Given the description of an element on the screen output the (x, y) to click on. 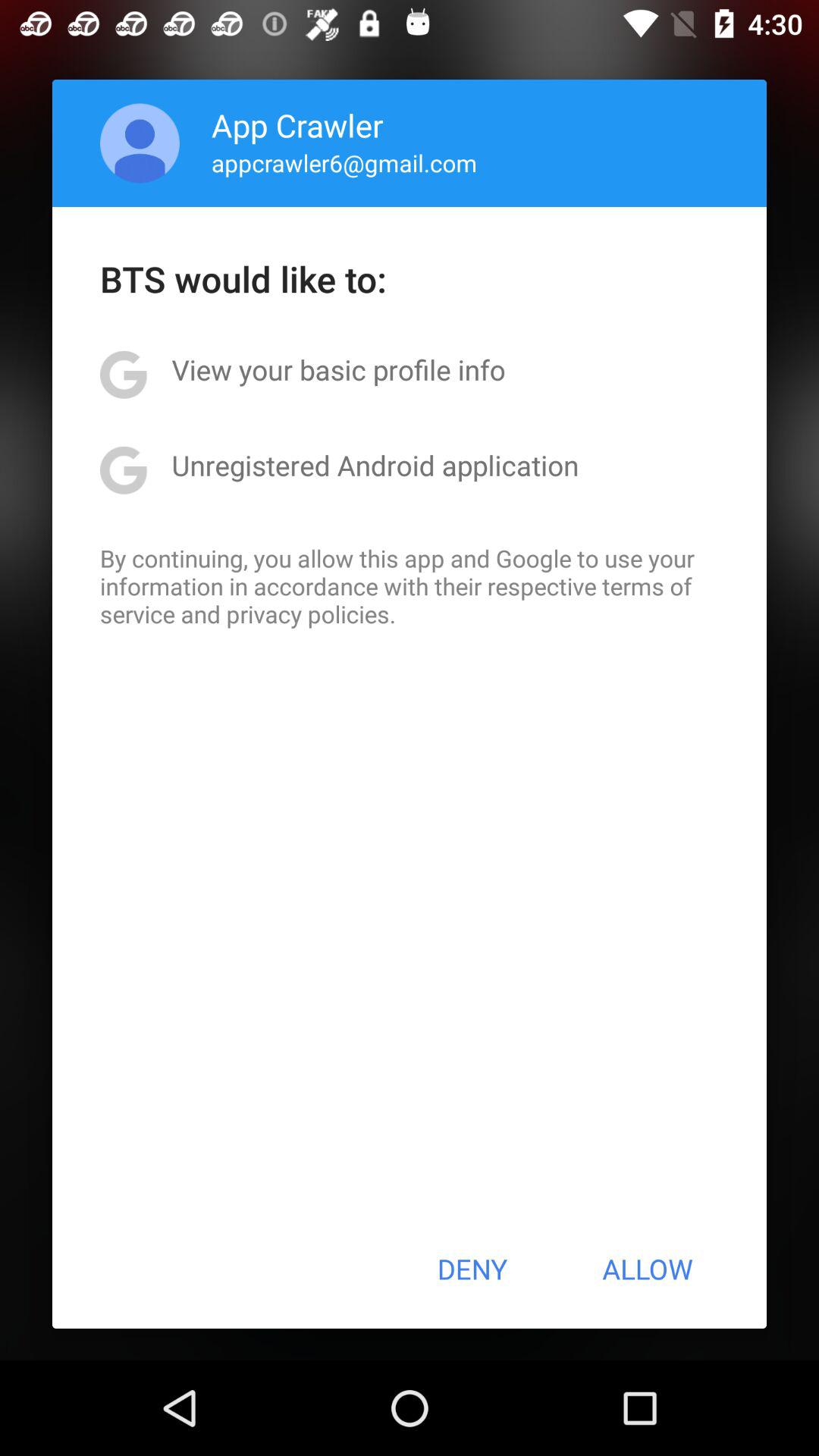
tap app above the appcrawler6@gmail.com item (297, 124)
